Given the description of an element on the screen output the (x, y) to click on. 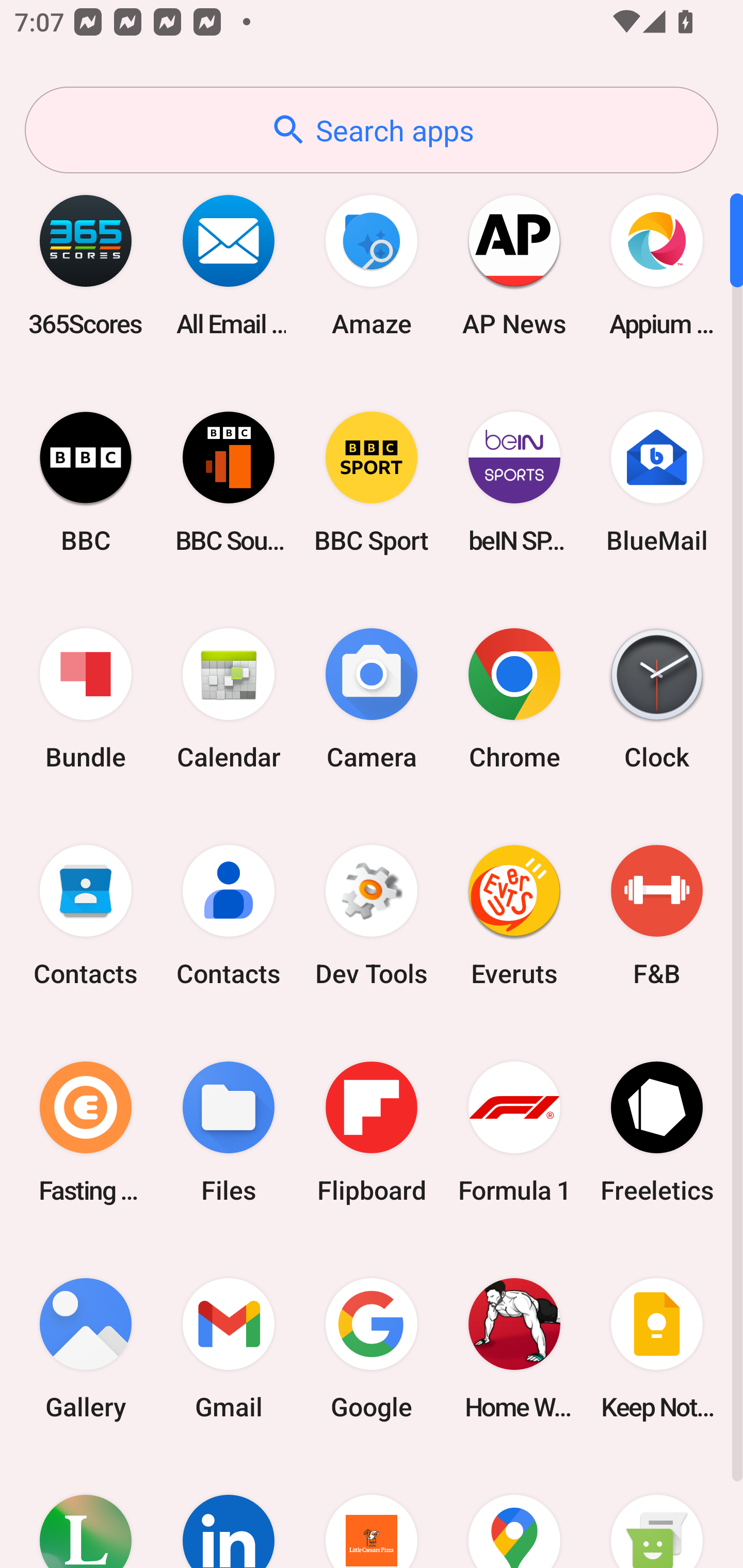
  Search apps (371, 130)
365Scores (85, 264)
All Email Connect (228, 264)
Amaze (371, 264)
AP News (514, 264)
Appium Settings (656, 264)
BBC (85, 482)
BBC Sounds (228, 482)
BBC Sport (371, 482)
beIN SPORTS (514, 482)
BlueMail (656, 482)
Bundle (85, 699)
Calendar (228, 699)
Camera (371, 699)
Chrome (514, 699)
Clock (656, 699)
Contacts (85, 915)
Contacts (228, 915)
Dev Tools (371, 915)
Everuts (514, 915)
F&B (656, 915)
Fasting Coach (85, 1131)
Files (228, 1131)
Flipboard (371, 1131)
Formula 1 (514, 1131)
Freeletics (656, 1131)
Gallery (85, 1348)
Gmail (228, 1348)
Google (371, 1348)
Home Workout (514, 1348)
Keep Notes (656, 1348)
Lifesum (85, 1512)
LinkedIn (228, 1512)
Little Caesars Pizza (371, 1512)
Maps (514, 1512)
Messaging (656, 1512)
